Given the description of an element on the screen output the (x, y) to click on. 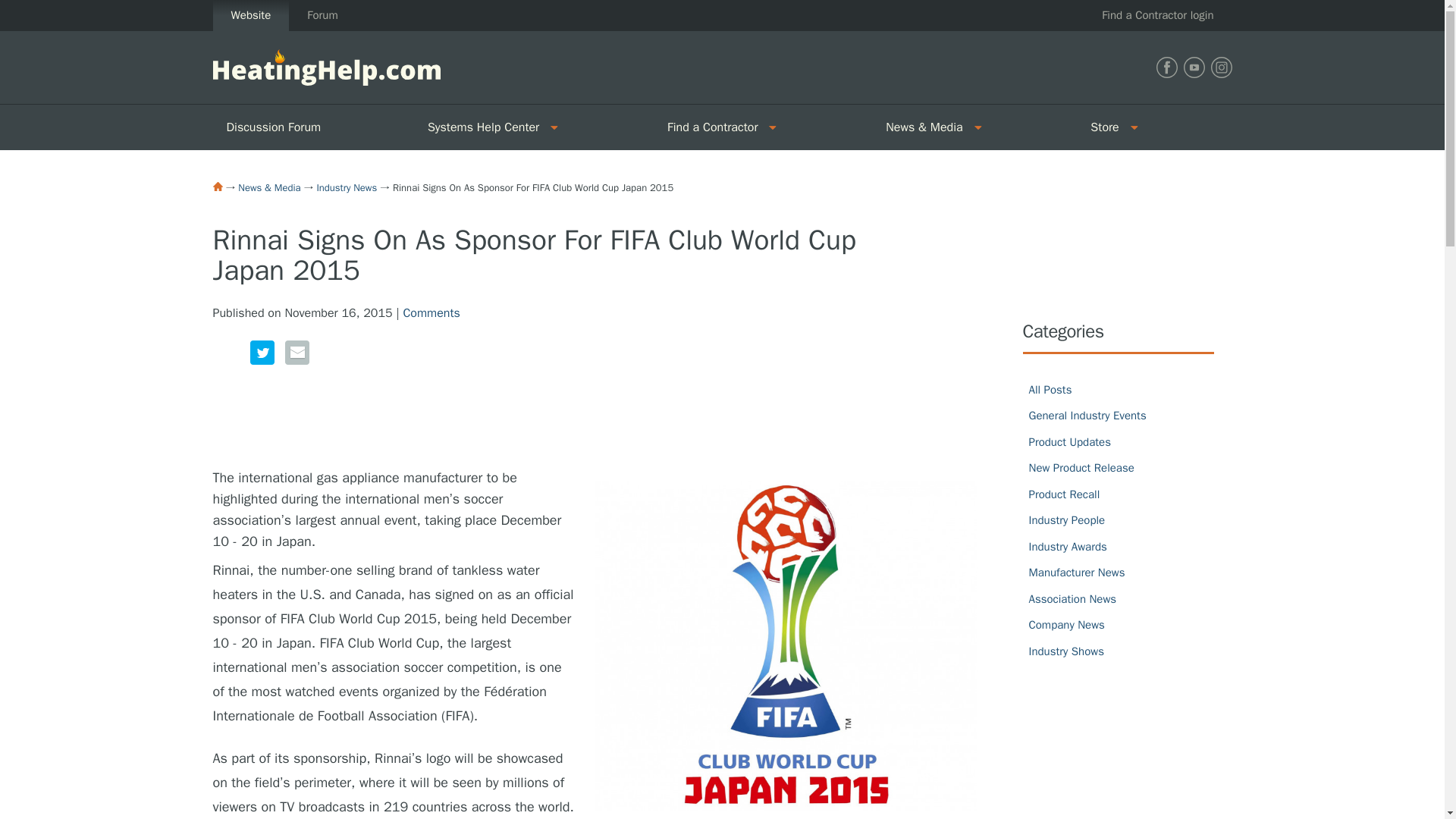
Find Heating Help on Facebook (1166, 66)
Discussion Forum (312, 126)
Find Heating Help on Youtube (1193, 66)
Find a Contractor login (1157, 15)
Systems Help Center (478, 126)
Forum (321, 15)
Home (217, 185)
Skip to Content (40, 9)
Website (250, 15)
Find Heating Help on Instagram (1220, 66)
